Given the description of an element on the screen output the (x, y) to click on. 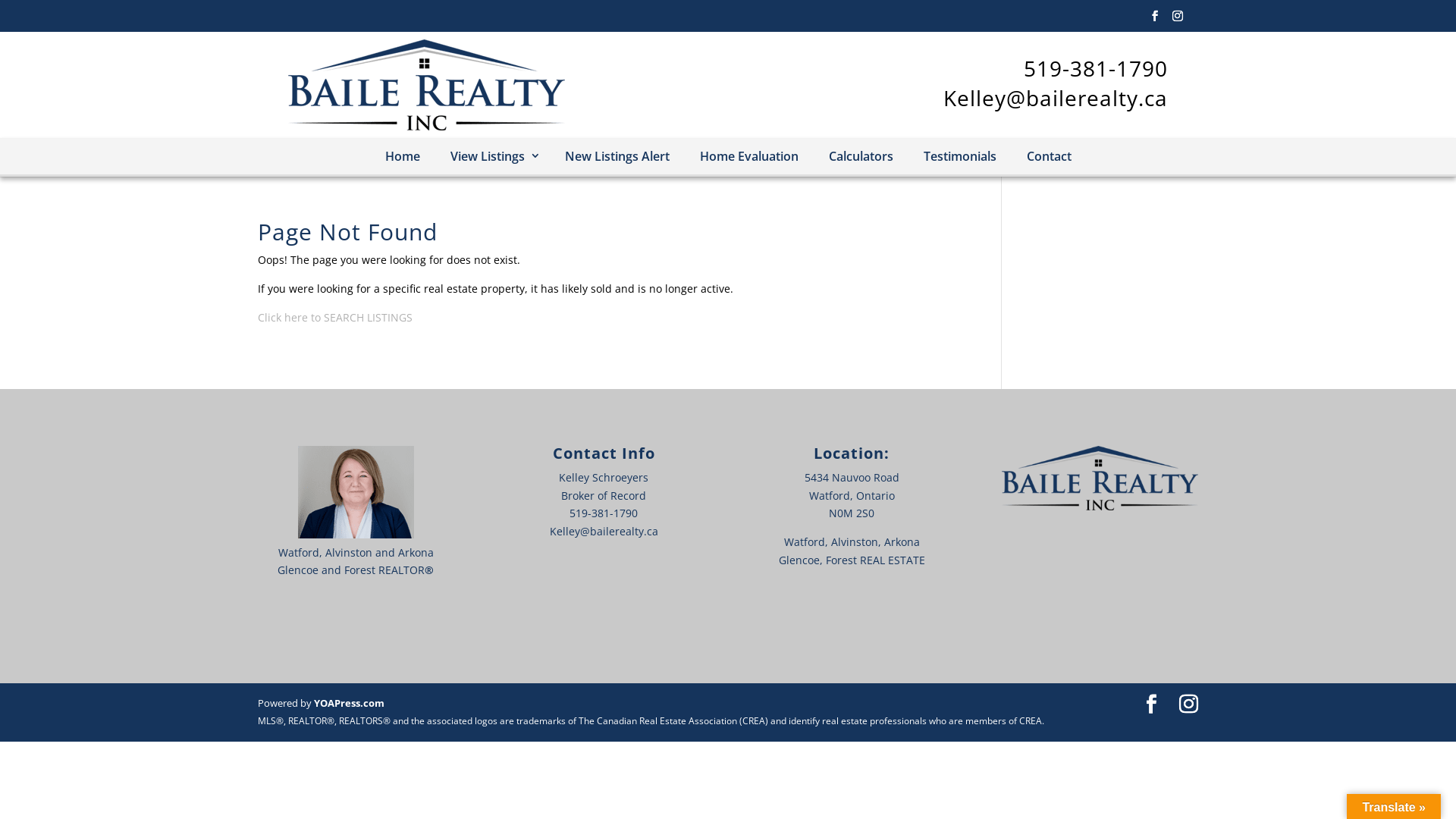
Calculators Element type: text (860, 156)
View Listings Element type: text (492, 156)
Kelley@bailerealty.ca Element type: text (603, 531)
Testimonials Element type: text (960, 156)
New Listings Alert Element type: text (616, 156)
Contact Element type: text (1049, 156)
Home Element type: text (402, 156)
Home Evaluation Element type: text (748, 156)
Click here to SEARCH LISTINGS Element type: text (334, 317)
519-381-1790 Element type: text (1095, 67)
Kelley@bailerealty.ca Element type: text (1055, 97)
YOAPress.com Element type: text (348, 702)
